Given the description of an element on the screen output the (x, y) to click on. 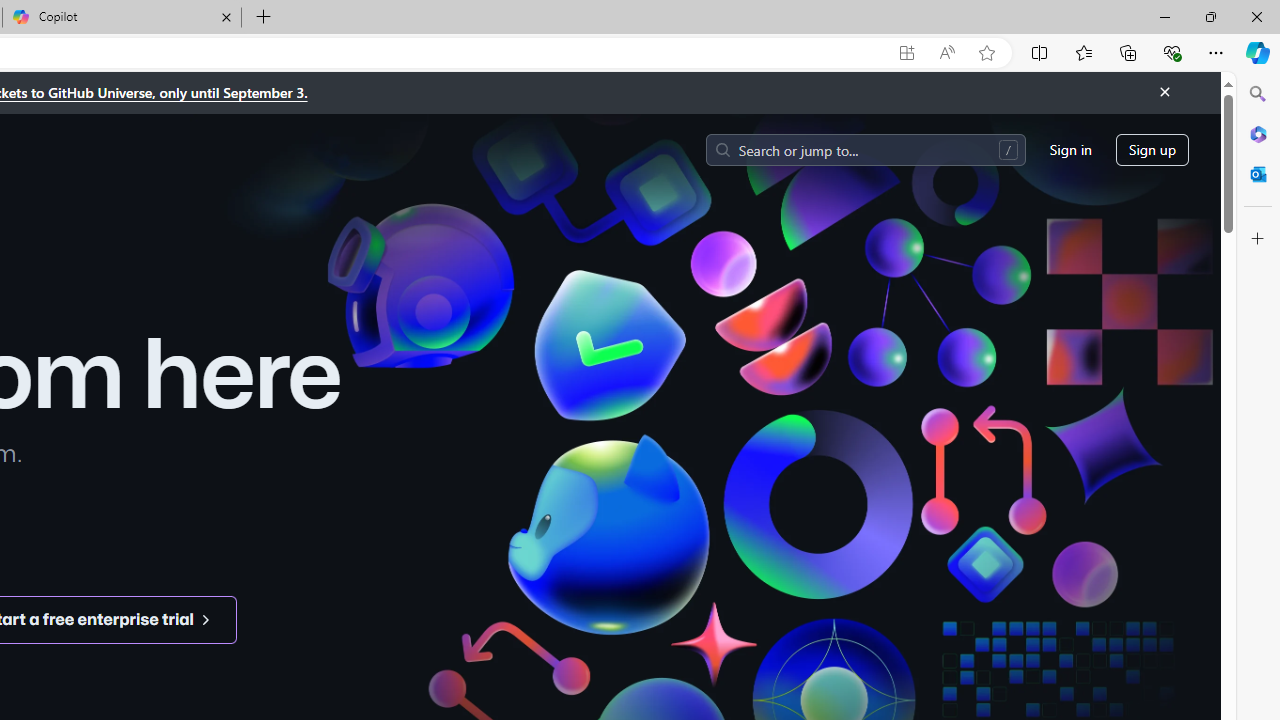
App available. Install GitHub (906, 53)
